Given the description of an element on the screen output the (x, y) to click on. 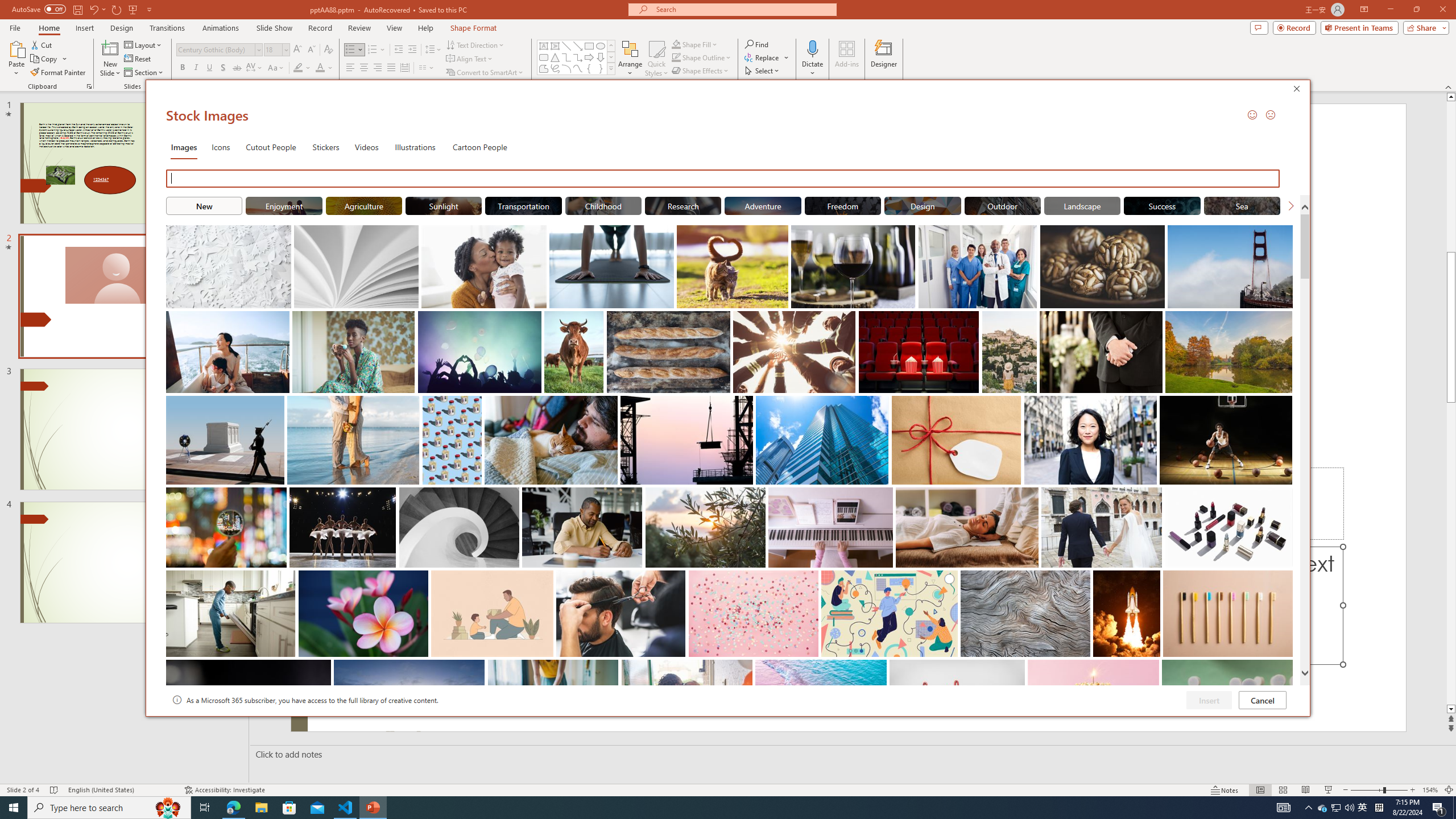
"Success" Stock Images. (1162, 205)
"Freedom" Stock Images. (842, 205)
